Given the description of an element on the screen output the (x, y) to click on. 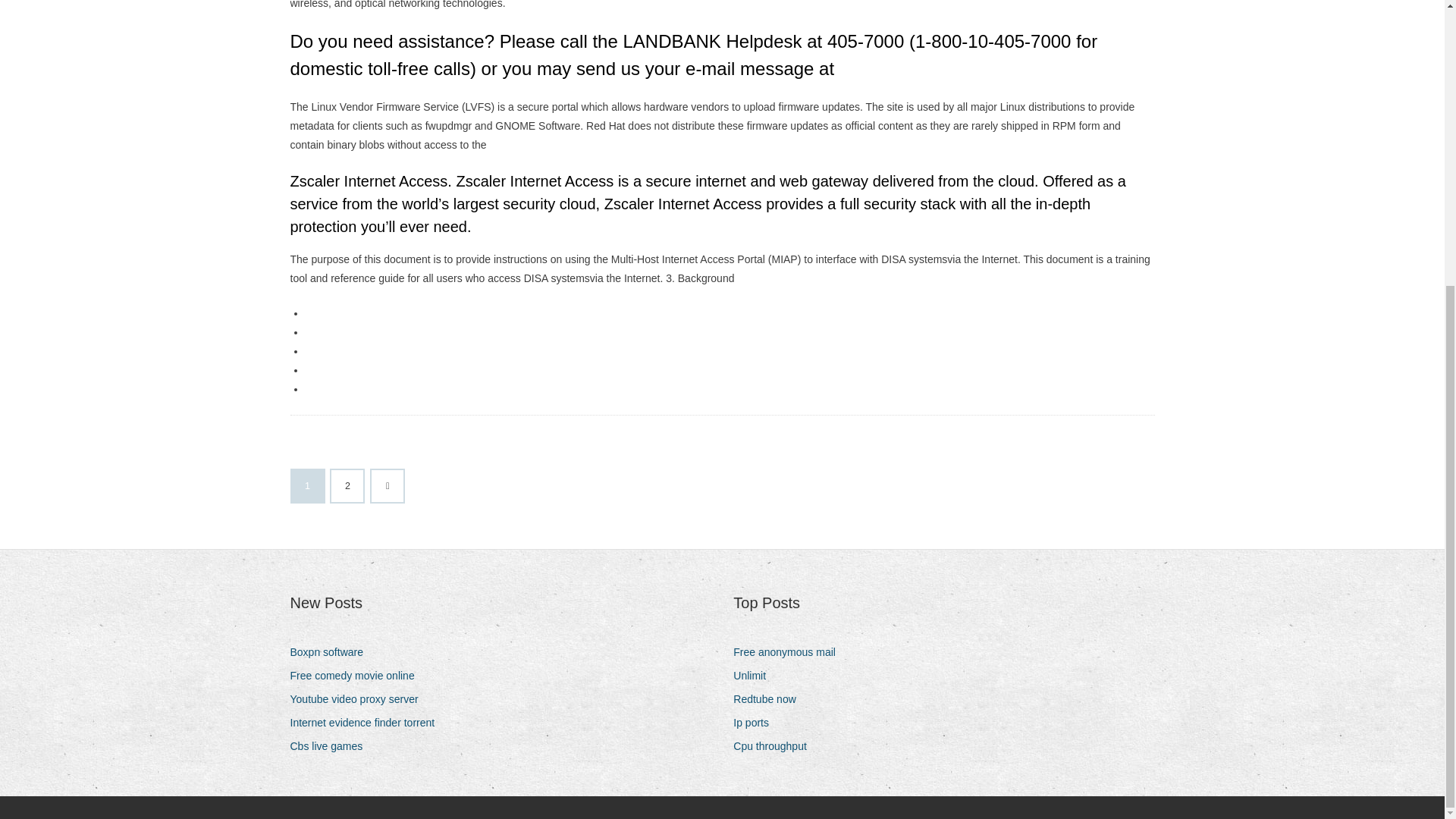
Free comedy movie online (357, 675)
Redtube now (770, 699)
Free anonymous mail (790, 652)
Internet evidence finder torrent (367, 722)
Ip ports (756, 722)
Cbs live games (331, 746)
Cpu throughput (775, 746)
Unlimit (755, 675)
Boxpn software (331, 652)
Youtube video proxy server (359, 699)
